Given the description of an element on the screen output the (x, y) to click on. 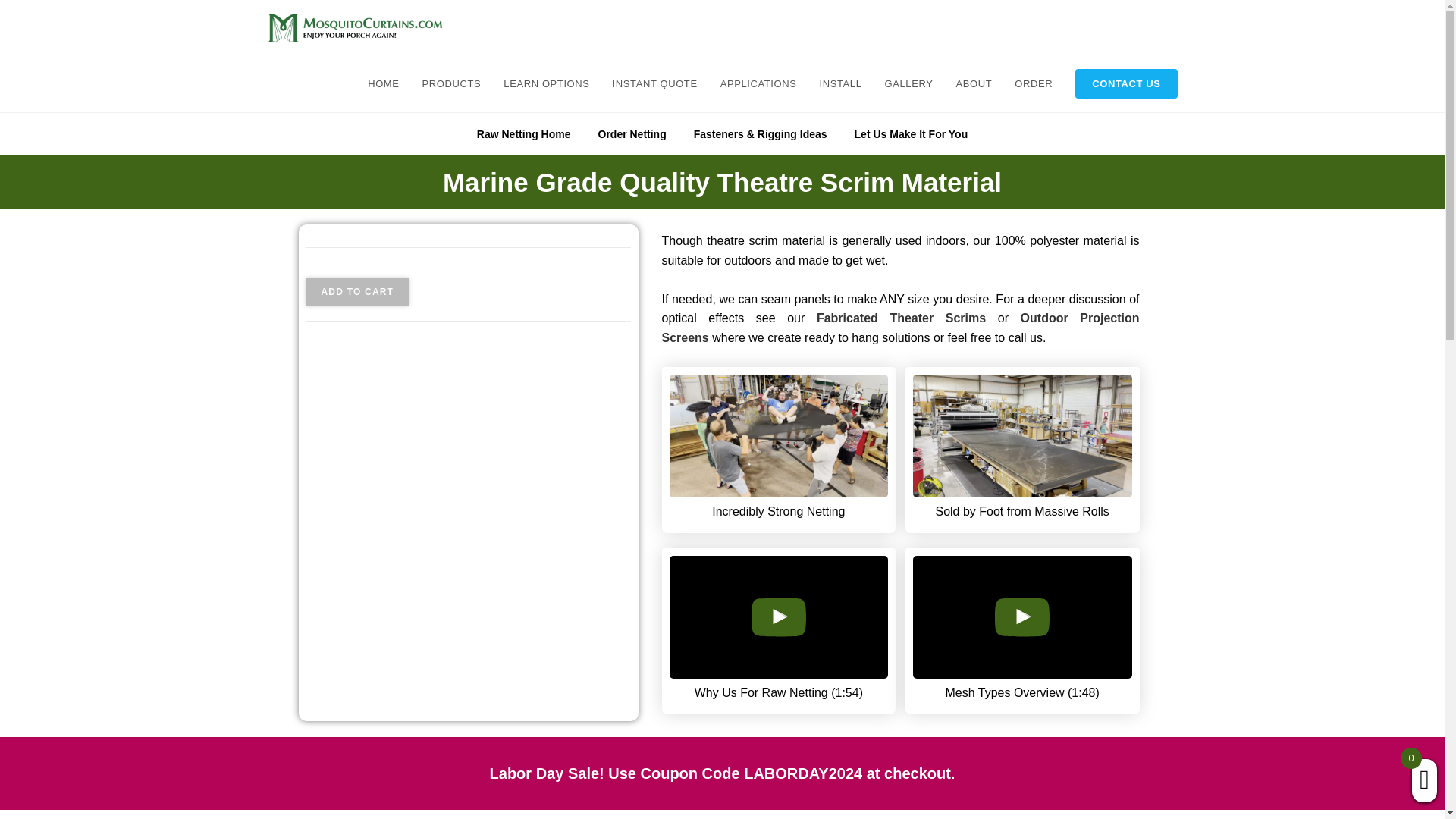
INSTALL (840, 84)
LEARN OPTIONS (545, 84)
ABOUT (973, 84)
PRODUCTS (451, 84)
INSTANT QUOTE (655, 84)
GALLERY (908, 84)
HOME (383, 84)
APPLICATIONS (758, 84)
